Given the description of an element on the screen output the (x, y) to click on. 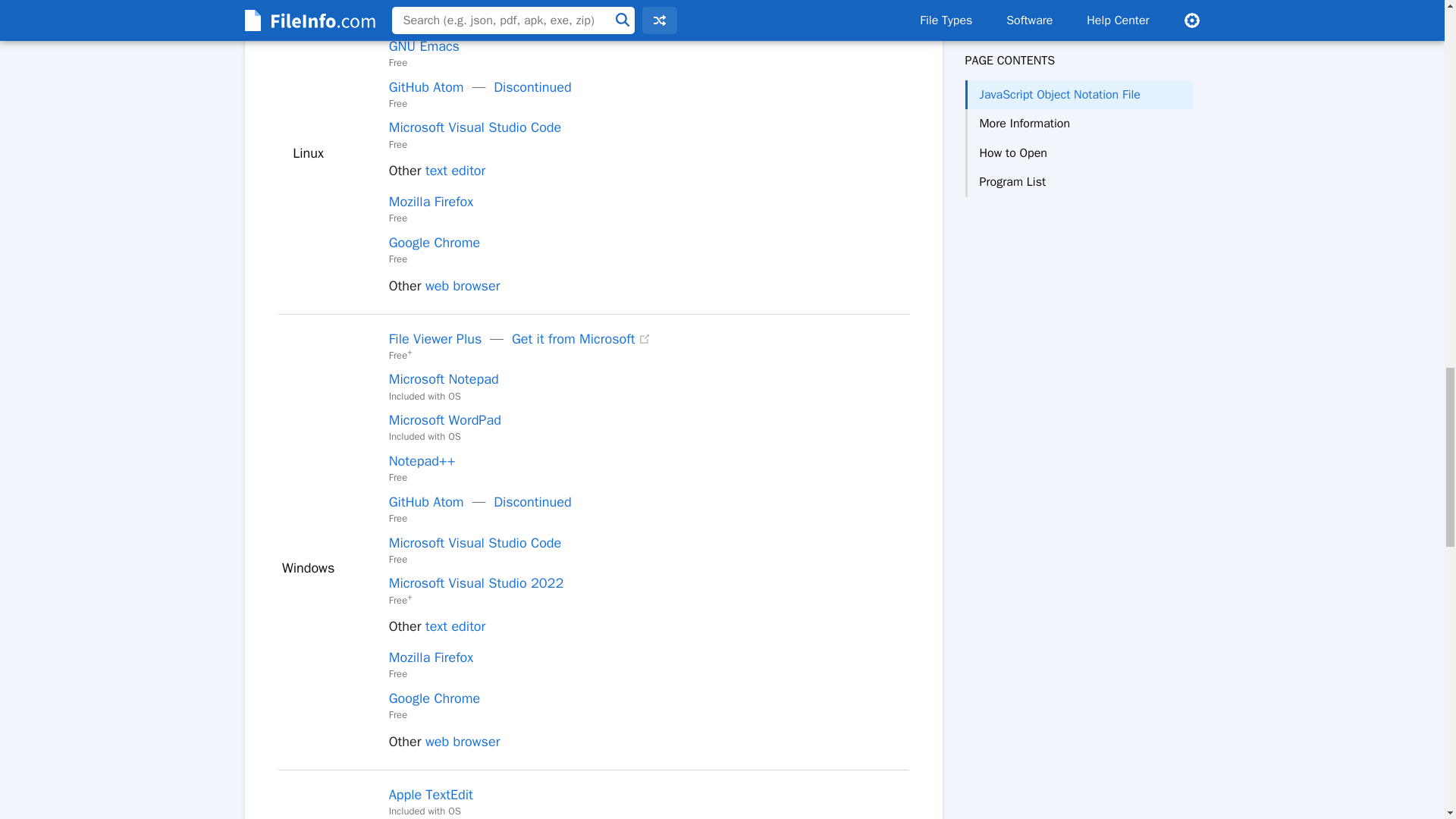
Pico (400, 6)
GNU Emacs (424, 45)
